Given the description of an element on the screen output the (x, y) to click on. 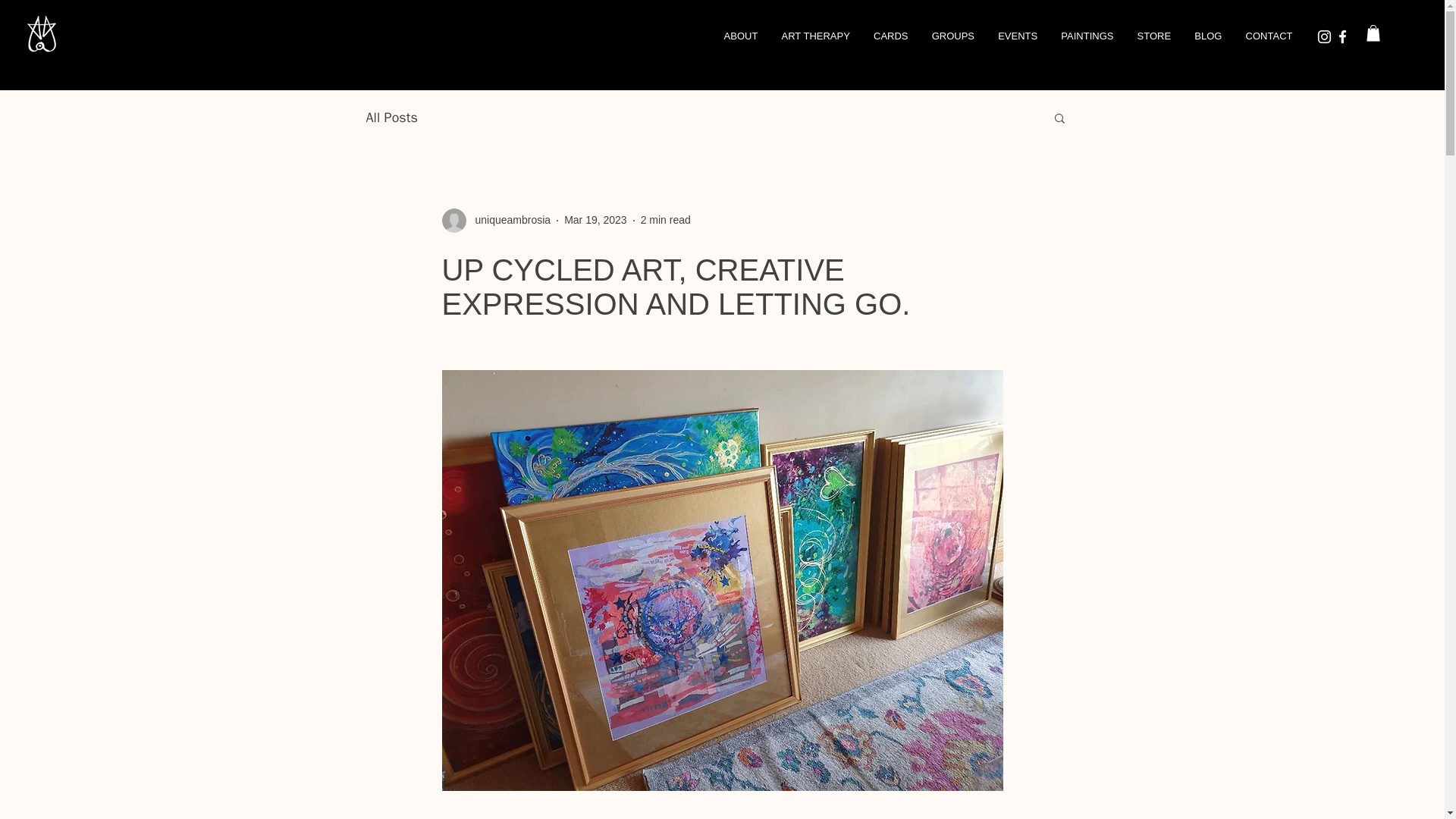
BLOG (1207, 35)
STORE (1153, 35)
All Posts (390, 116)
EVENTS (1018, 35)
2 min read (665, 219)
CONTACT (1268, 35)
uniqueambrosia (495, 219)
Mar 19, 2023 (595, 219)
uniqueambrosia (507, 220)
